Given the description of an element on the screen output the (x, y) to click on. 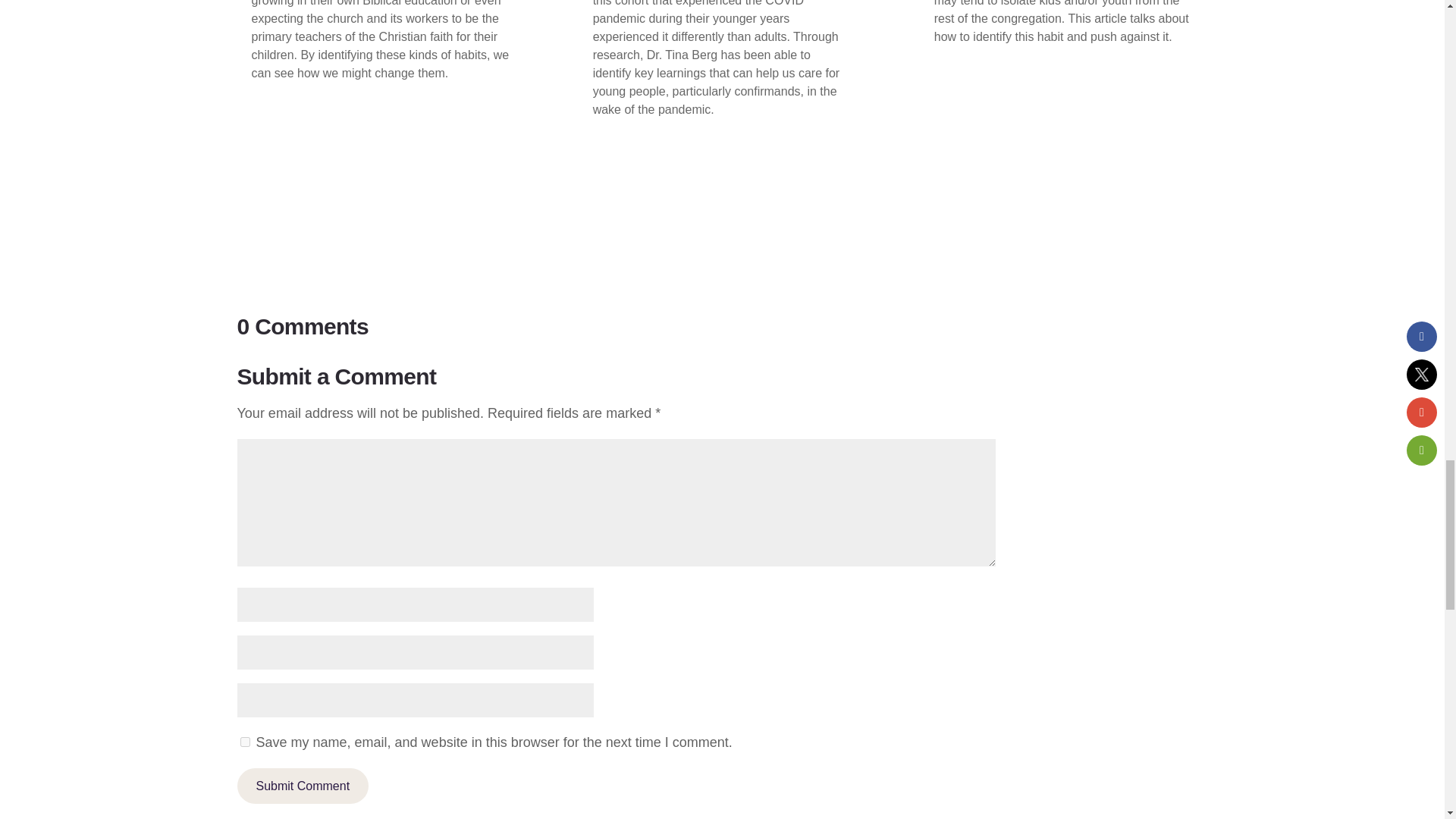
yes (244, 741)
